Given the description of an element on the screen output the (x, y) to click on. 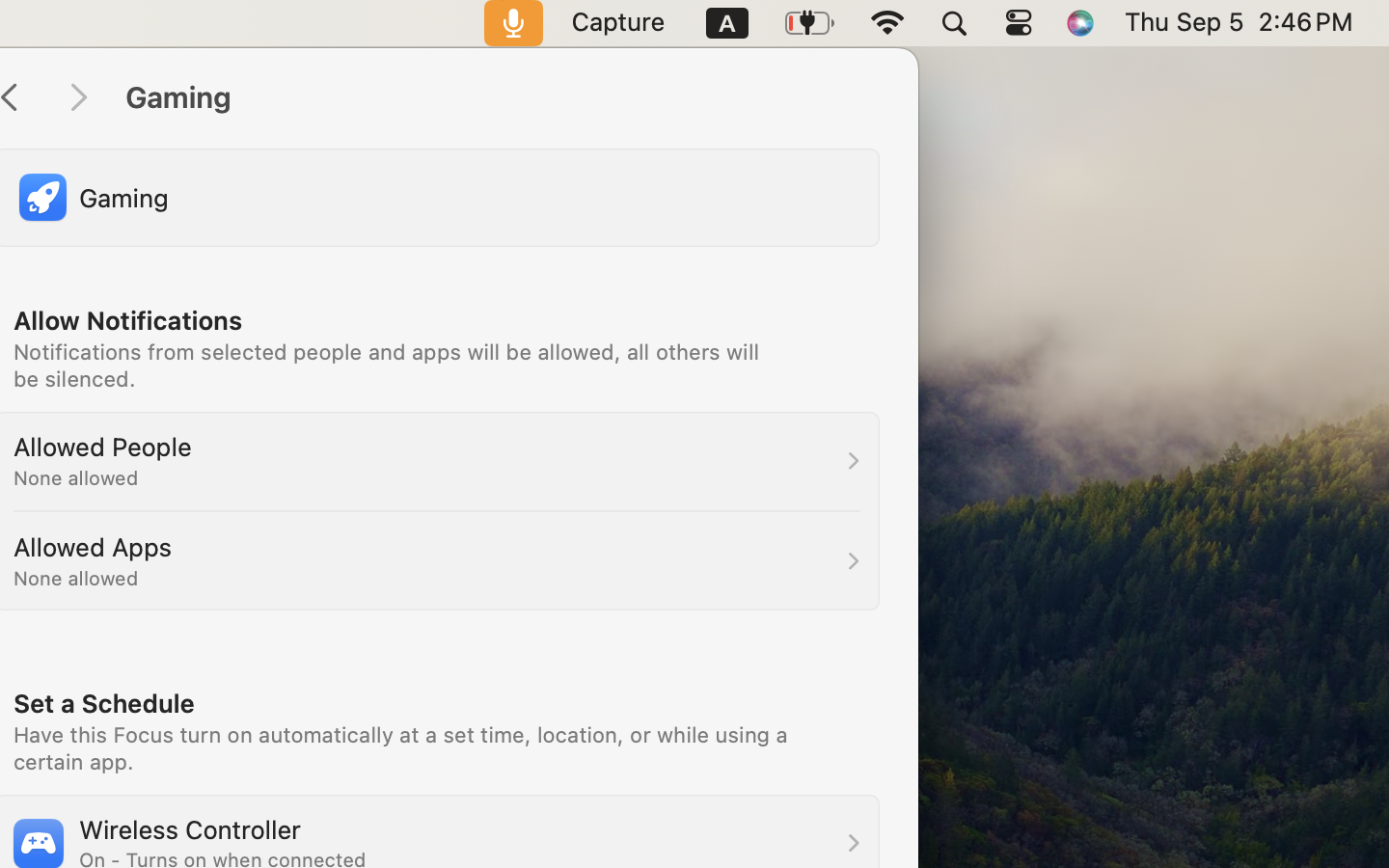
Gaming Element type: AXStaticText (501, 98)
